Given the description of an element on the screen output the (x, y) to click on. 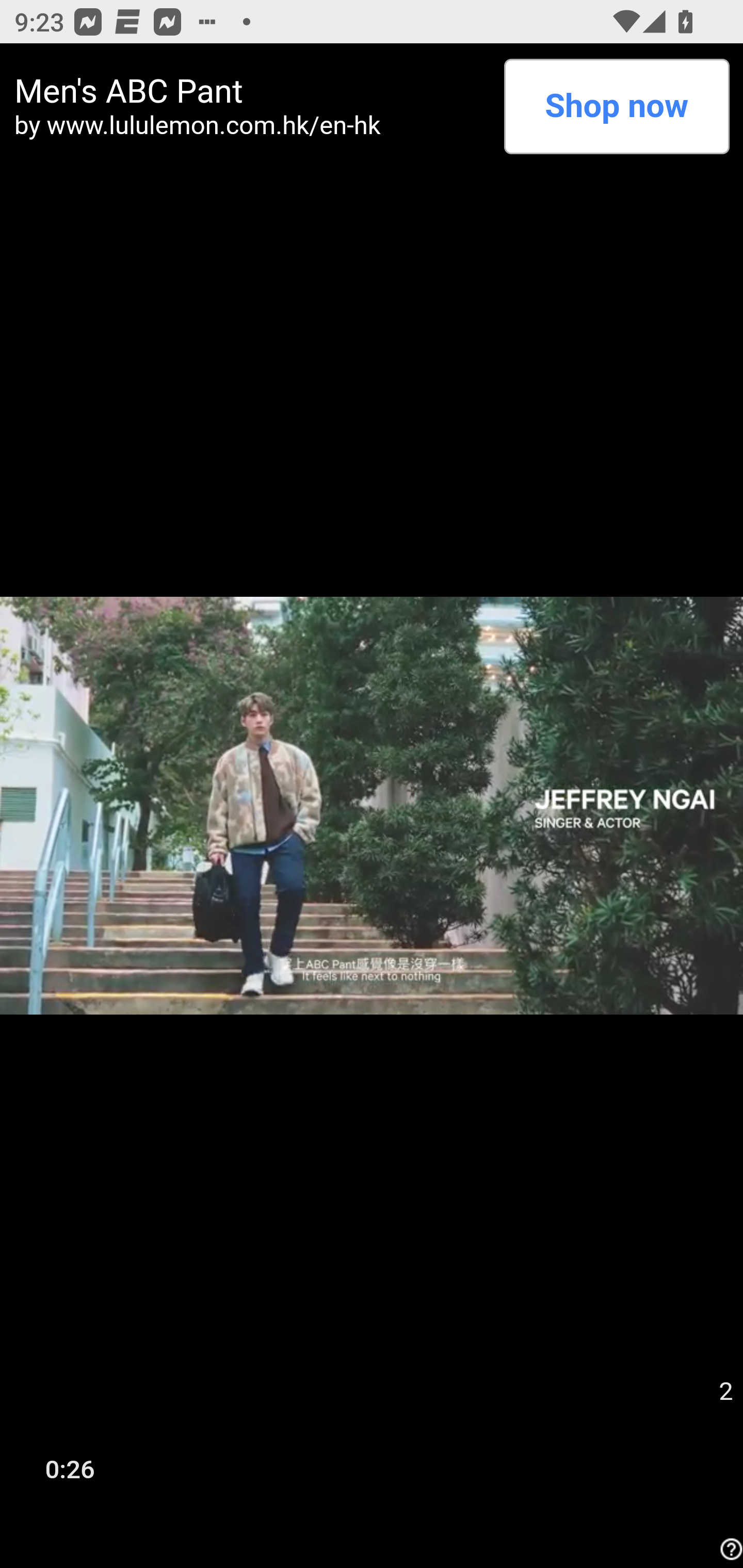
Shop now (616, 106)
Men's ABC Pant (252, 91)
by www.lululemon.com.hk/en-hk (252, 125)
Skip Ad Countdown (725, 1391)
0:27 (70, 1468)
help_outline_white_24dp_with_3px_trbl_padding (728, 1548)
